Given the description of an element on the screen output the (x, y) to click on. 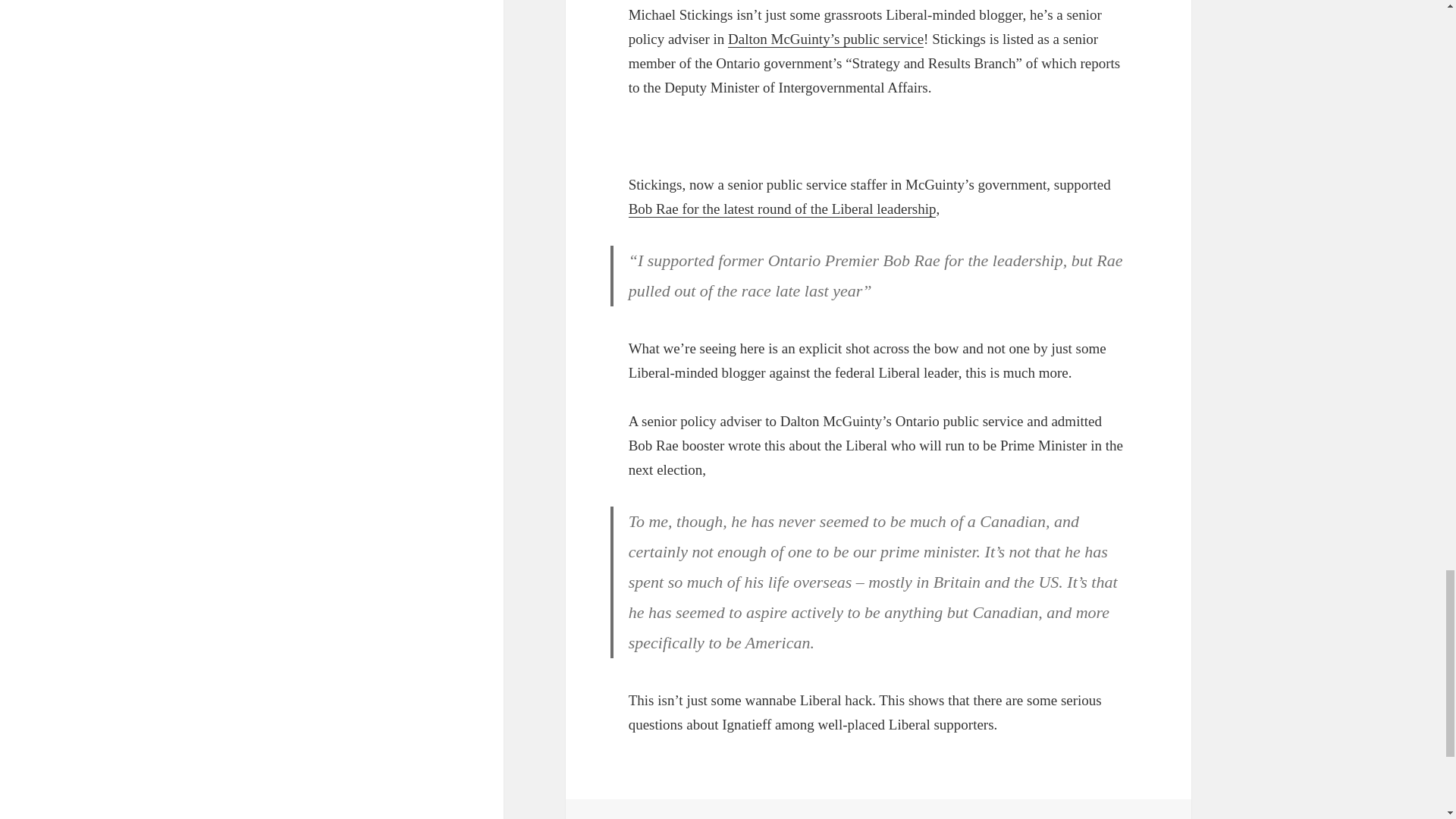
Bob Rae for the latest round of the Liberal leadership (782, 208)
